Given the description of an element on the screen output the (x, y) to click on. 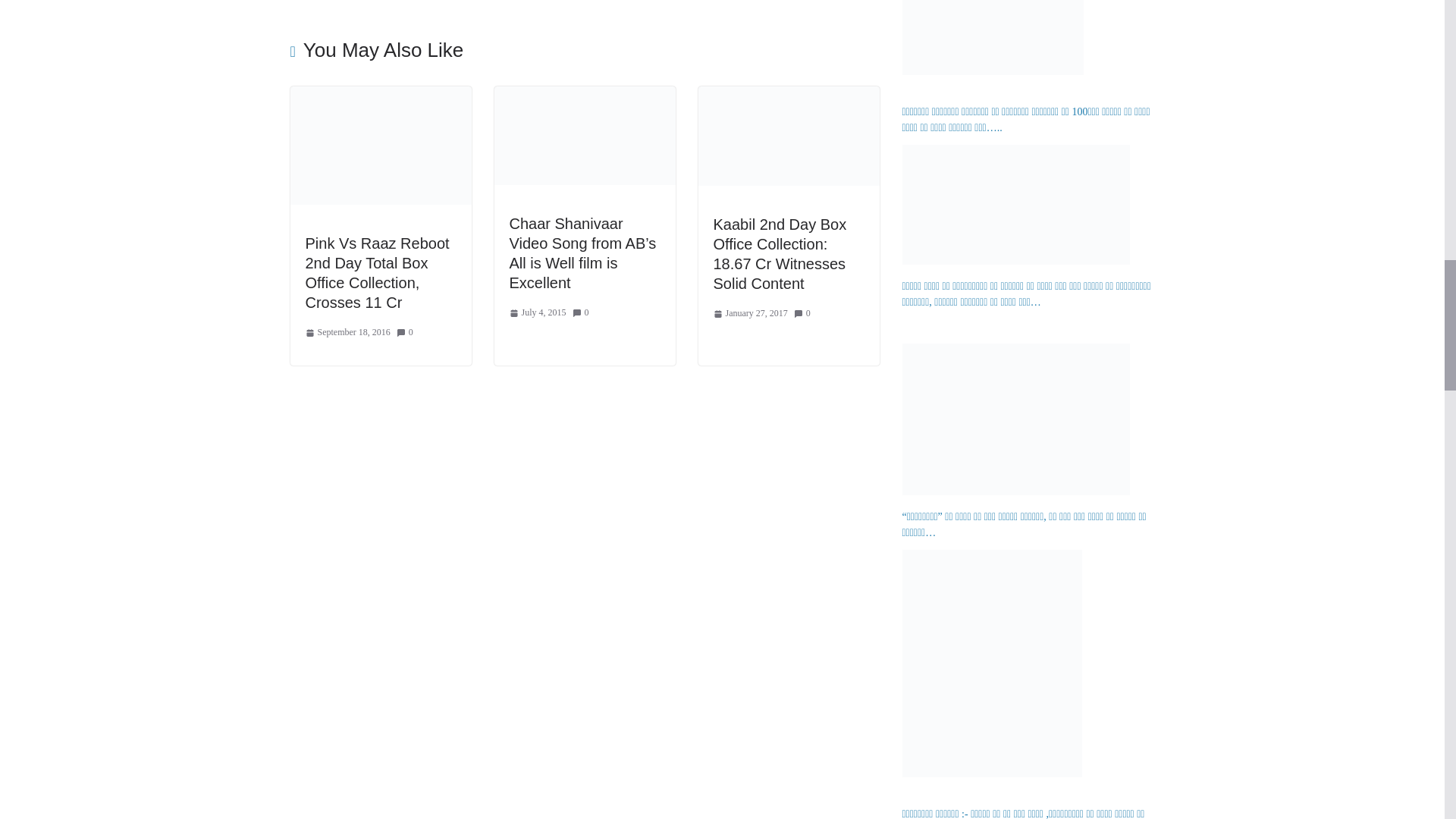
September 18, 2016 (347, 332)
9:43 am (347, 332)
